Given the description of an element on the screen output the (x, y) to click on. 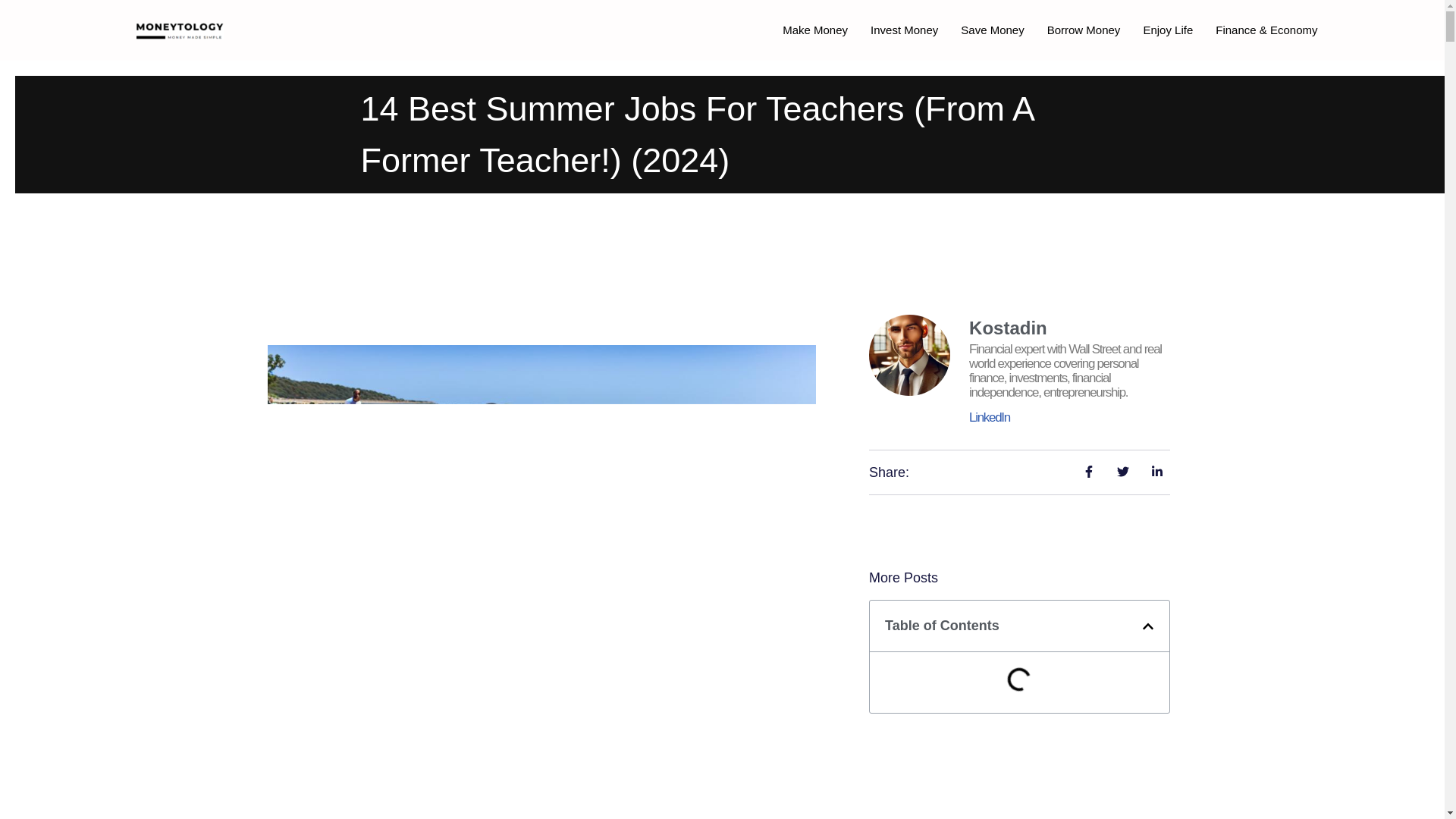
Enjoy Life (1167, 30)
Invest Money (904, 30)
Make Money (815, 30)
Save Money (992, 30)
Kostadin (1069, 328)
LinkedIn (989, 417)
Borrow Money (1083, 30)
Table of Contents (1019, 656)
